Given the description of an element on the screen output the (x, y) to click on. 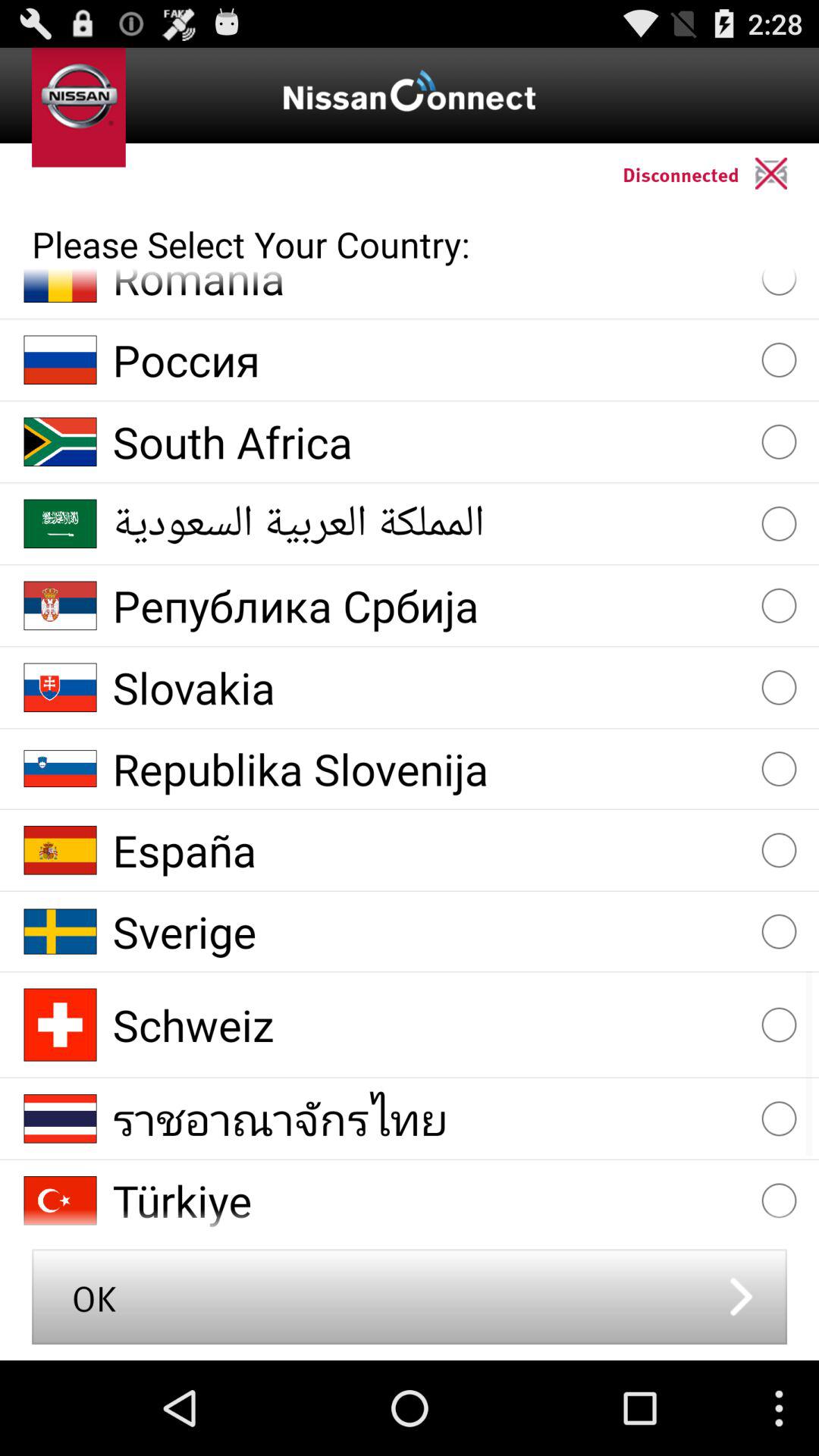
click item above ok button (429, 1200)
